Given the description of an element on the screen output the (x, y) to click on. 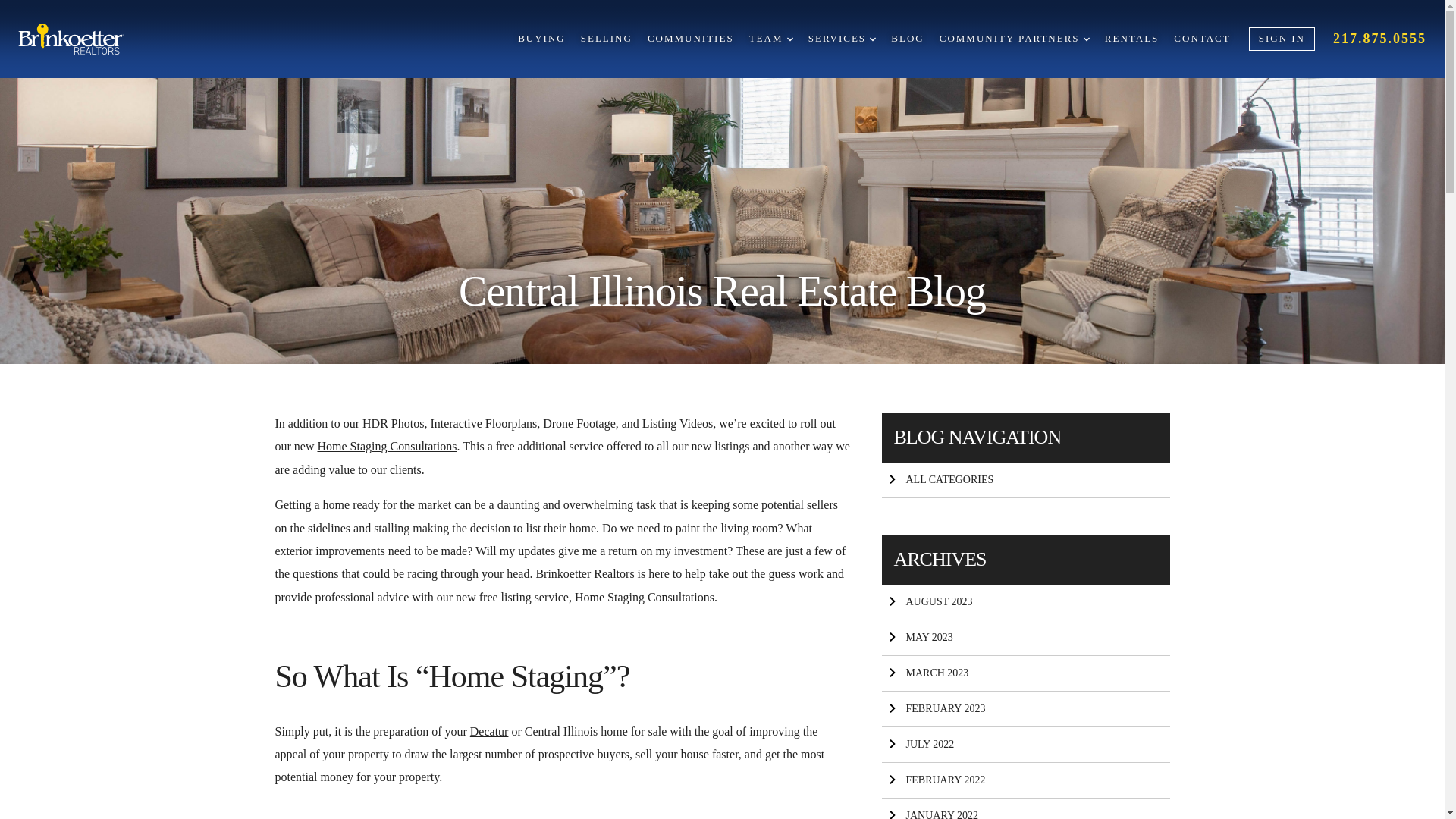
TEAM DROPDOWN ARROW (771, 38)
SERVICES DROPDOWN ARROW (842, 38)
BLOG (907, 38)
BUYING (542, 38)
DROPDOWN ARROW (790, 39)
COMMUNITIES (690, 38)
SELLING (605, 38)
217.875.0555 (1379, 38)
COMMUNITY PARTNERS DROPDOWN ARROW (1014, 38)
DROPDOWN ARROW (872, 39)
